Given the description of an element on the screen output the (x, y) to click on. 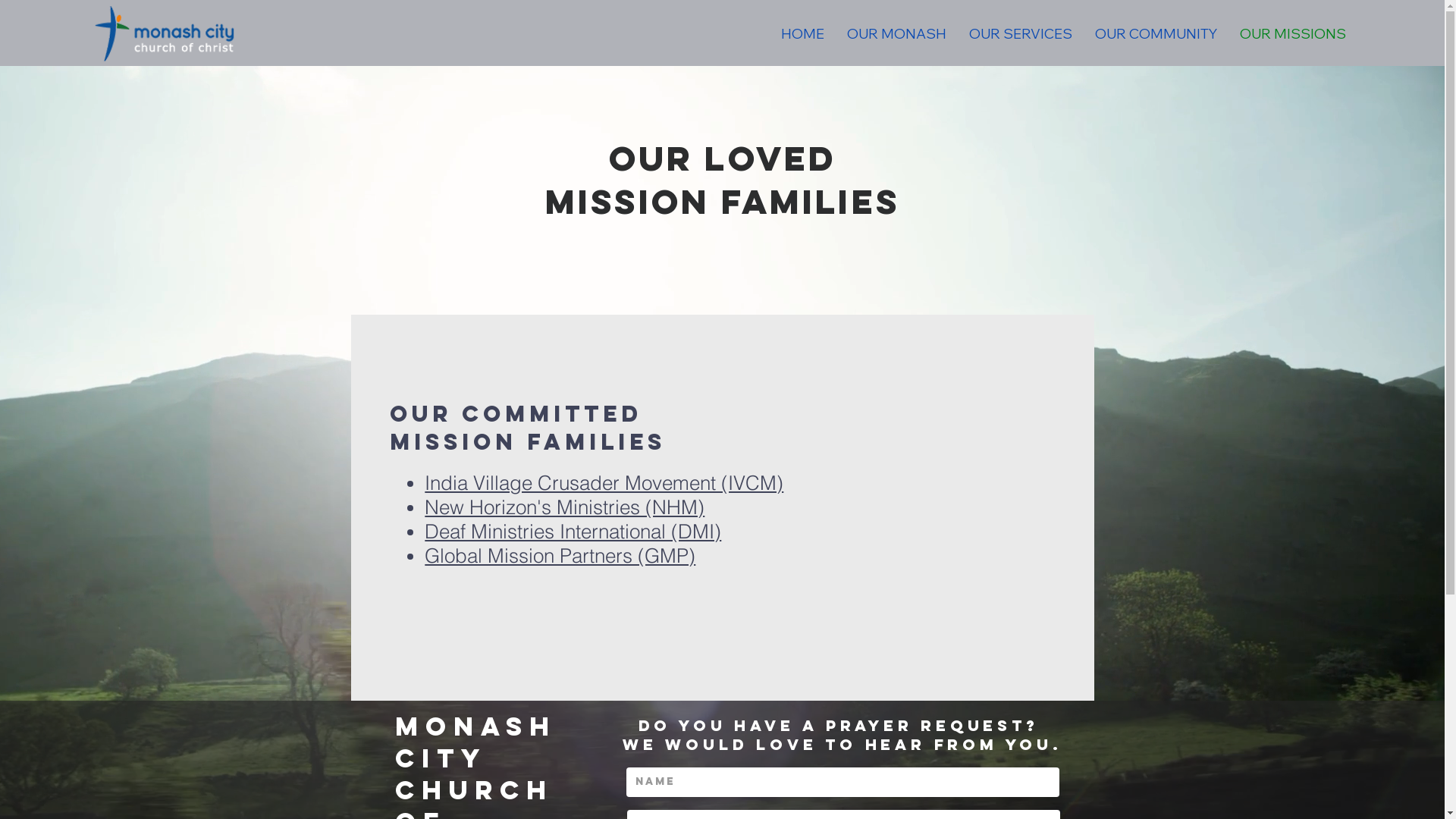
OUR MISSIONS Element type: text (1292, 33)
Global Mission Partners (GMP) Element type: text (559, 555)
New Horizon's Ministries (NHM) Element type: text (564, 507)
OUR SERVICES Element type: text (1020, 33)
MCCOC.png Element type: hover (167, 33)
OUR MONASH Element type: text (896, 33)
PayPal Button Element type: hover (989, 381)
PayPal Button Element type: hover (989, 646)
HOME Element type: text (802, 33)
PayPal Button Element type: hover (989, 472)
PayPal Button Element type: hover (989, 560)
India Village Crusader Movement (IVCM) Element type: text (603, 482)
Deaf Ministries International (DMI) Element type: text (572, 531)
